Given the description of an element on the screen output the (x, y) to click on. 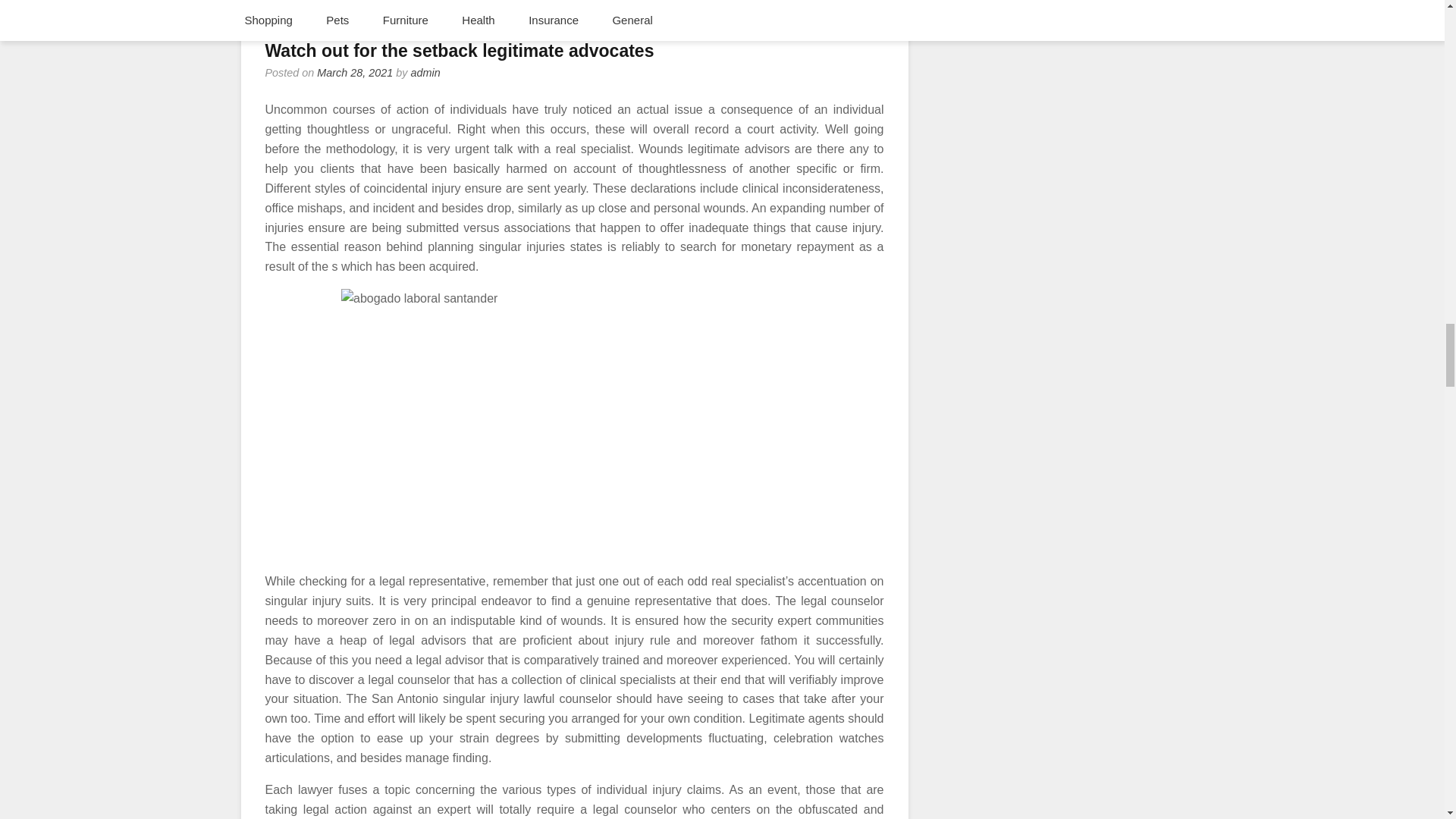
admin (425, 72)
Watch out for the setback legitimate advocates (458, 50)
March 28, 2021 (355, 72)
